Given the description of an element on the screen output the (x, y) to click on. 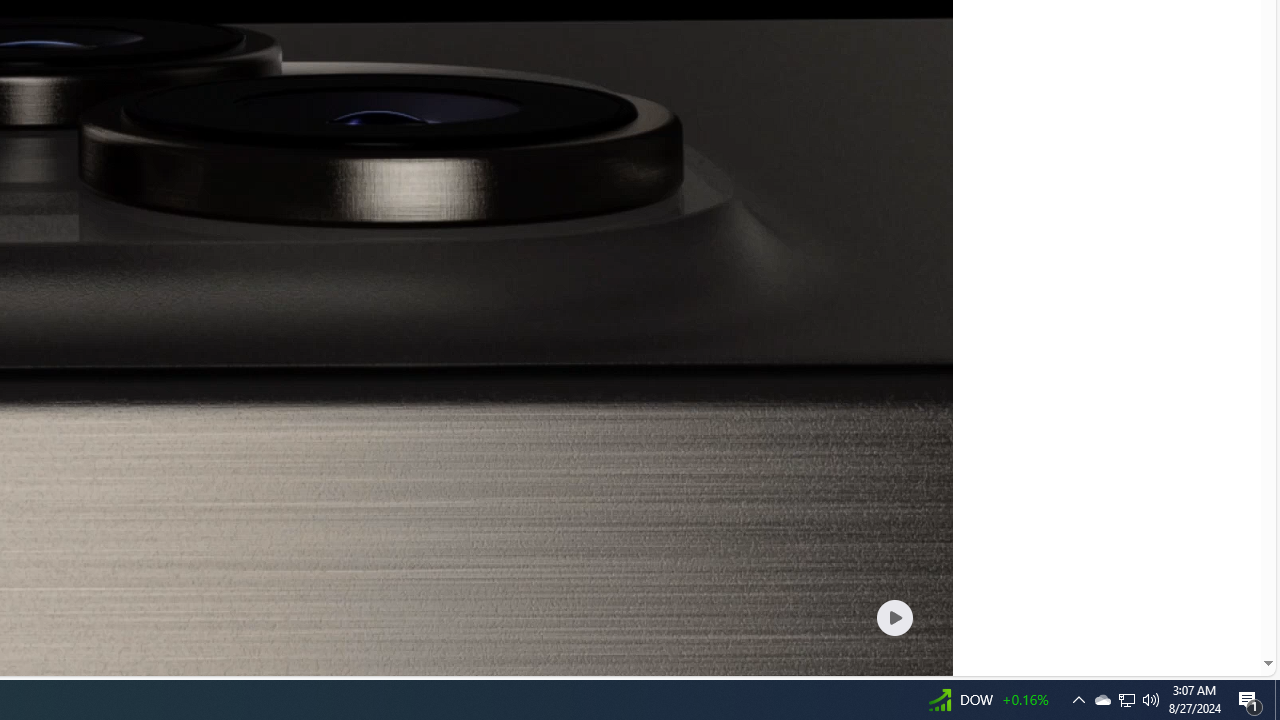
Play welcome animation video (893, 617)
Class: control-centered-small-icon (894, 617)
